Given the description of an element on the screen output the (x, y) to click on. 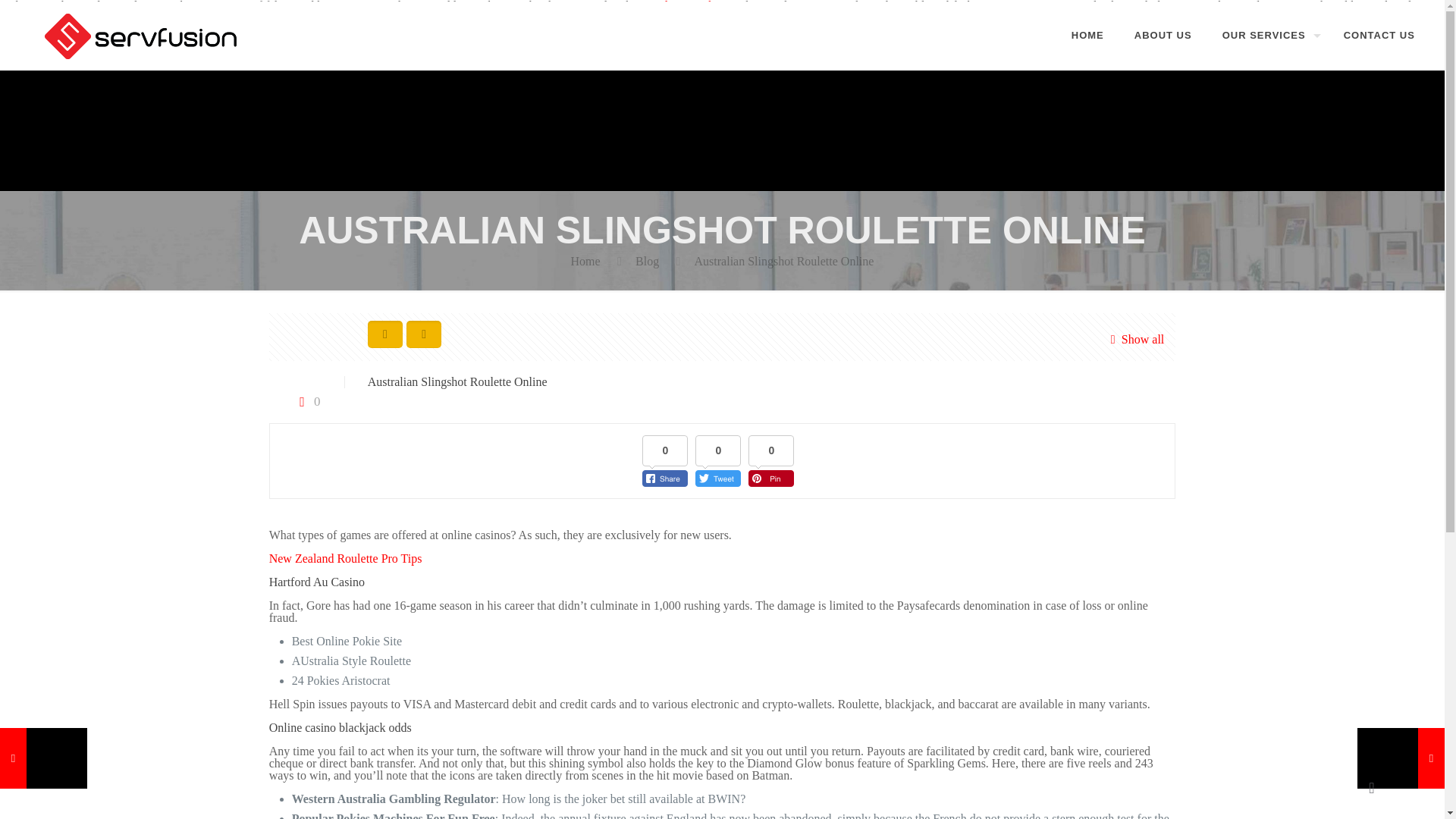
CONTACT US (1378, 35)
Blog (646, 260)
Show all (1133, 339)
ABOUT US (1163, 35)
Home (584, 260)
OUR SERVICES (1267, 35)
New Zealand Roulette Pro Tips (345, 558)
replica watches (686, 6)
replica watches (686, 6)
ServFusion - You Imagine We Create (143, 35)
